Given the description of an element on the screen output the (x, y) to click on. 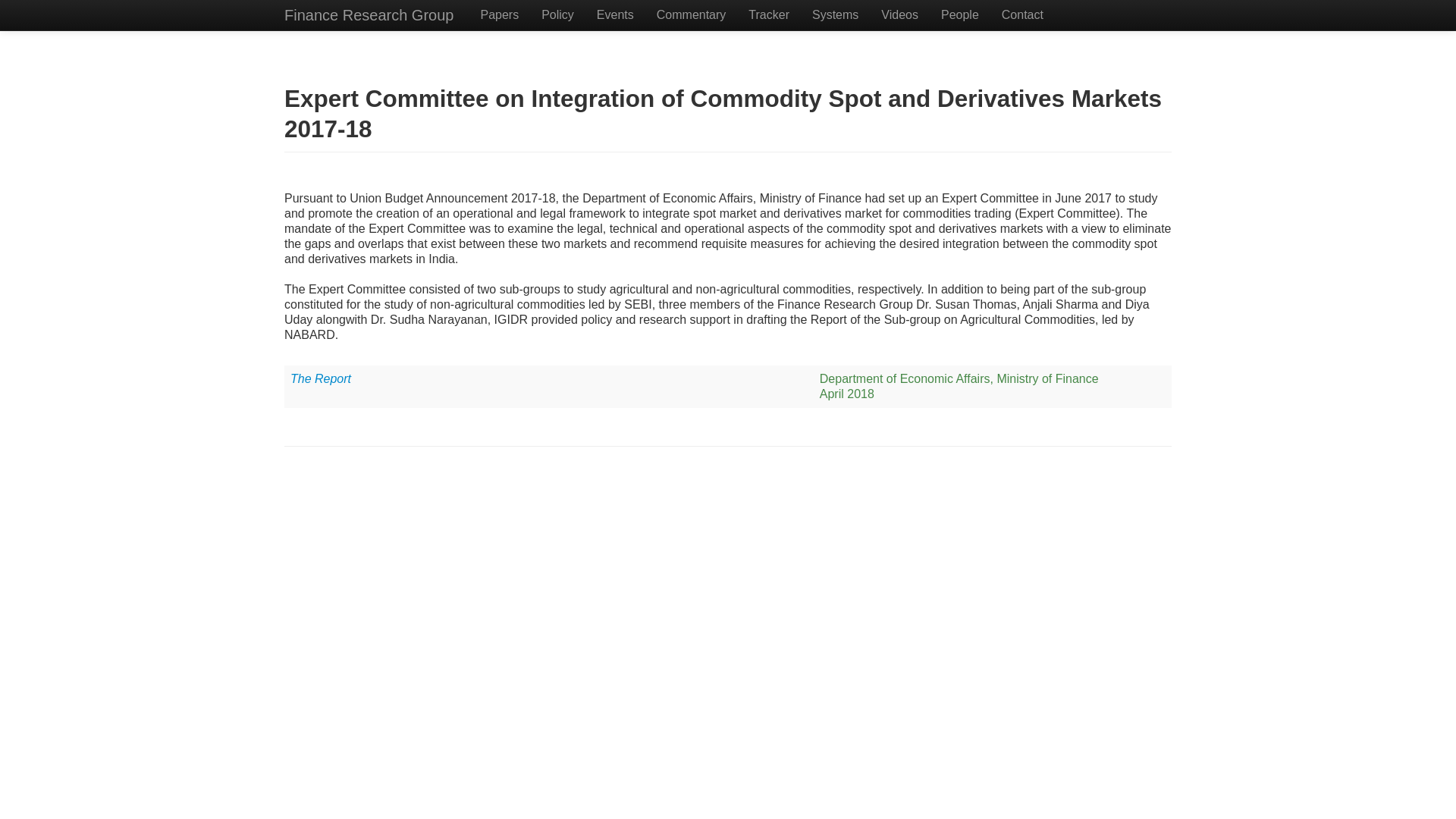
People (960, 15)
Finance Research Group (368, 15)
Commentary (691, 15)
Papers (498, 15)
The Report (319, 378)
Systems (834, 15)
Tracker (768, 15)
Contact (1022, 15)
Events (615, 15)
Videos (899, 15)
Policy (557, 15)
